Given the description of an element on the screen output the (x, y) to click on. 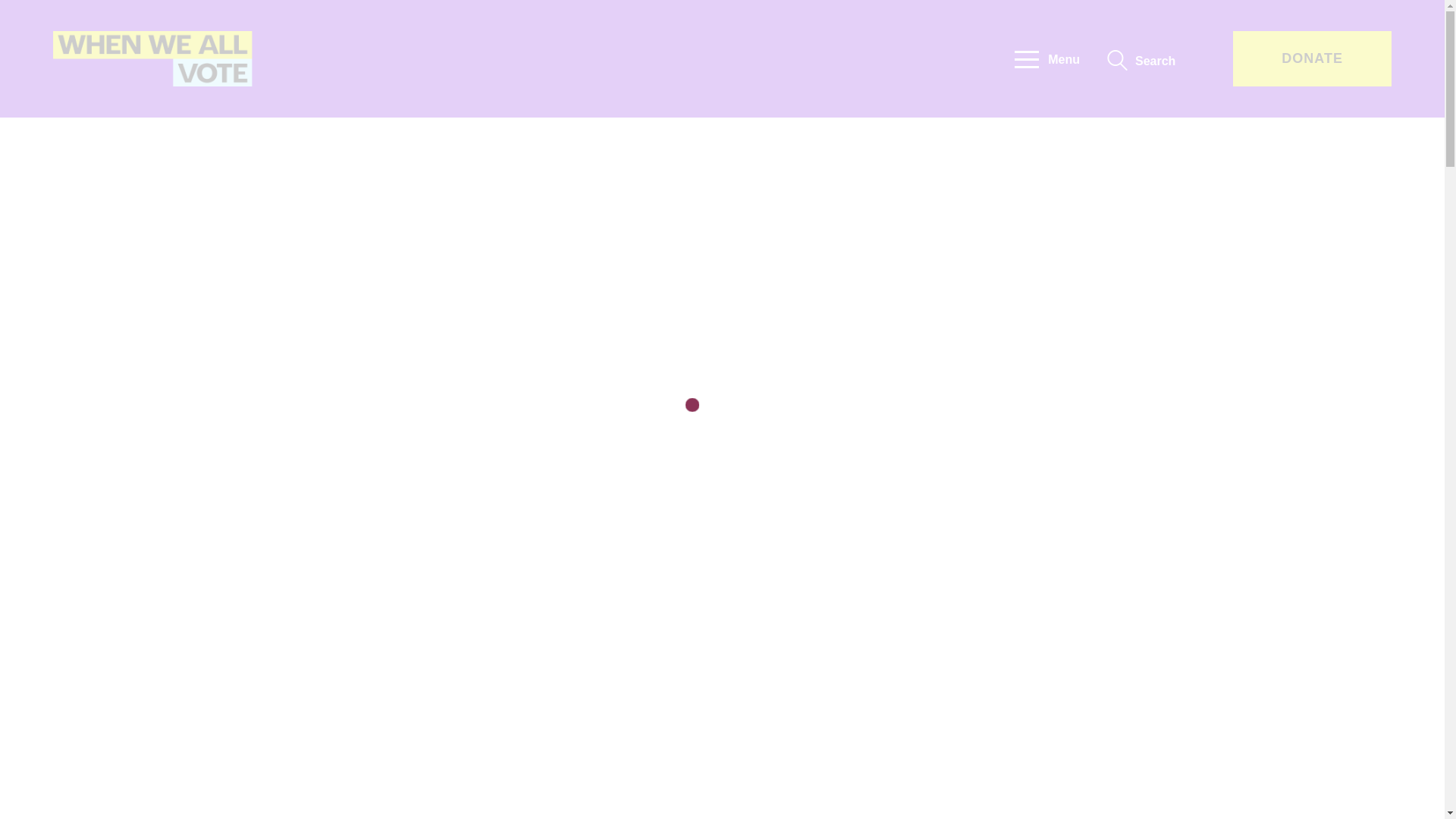
Menu (1047, 58)
DONATE (1312, 58)
Search (1140, 61)
